Given the description of an element on the screen output the (x, y) to click on. 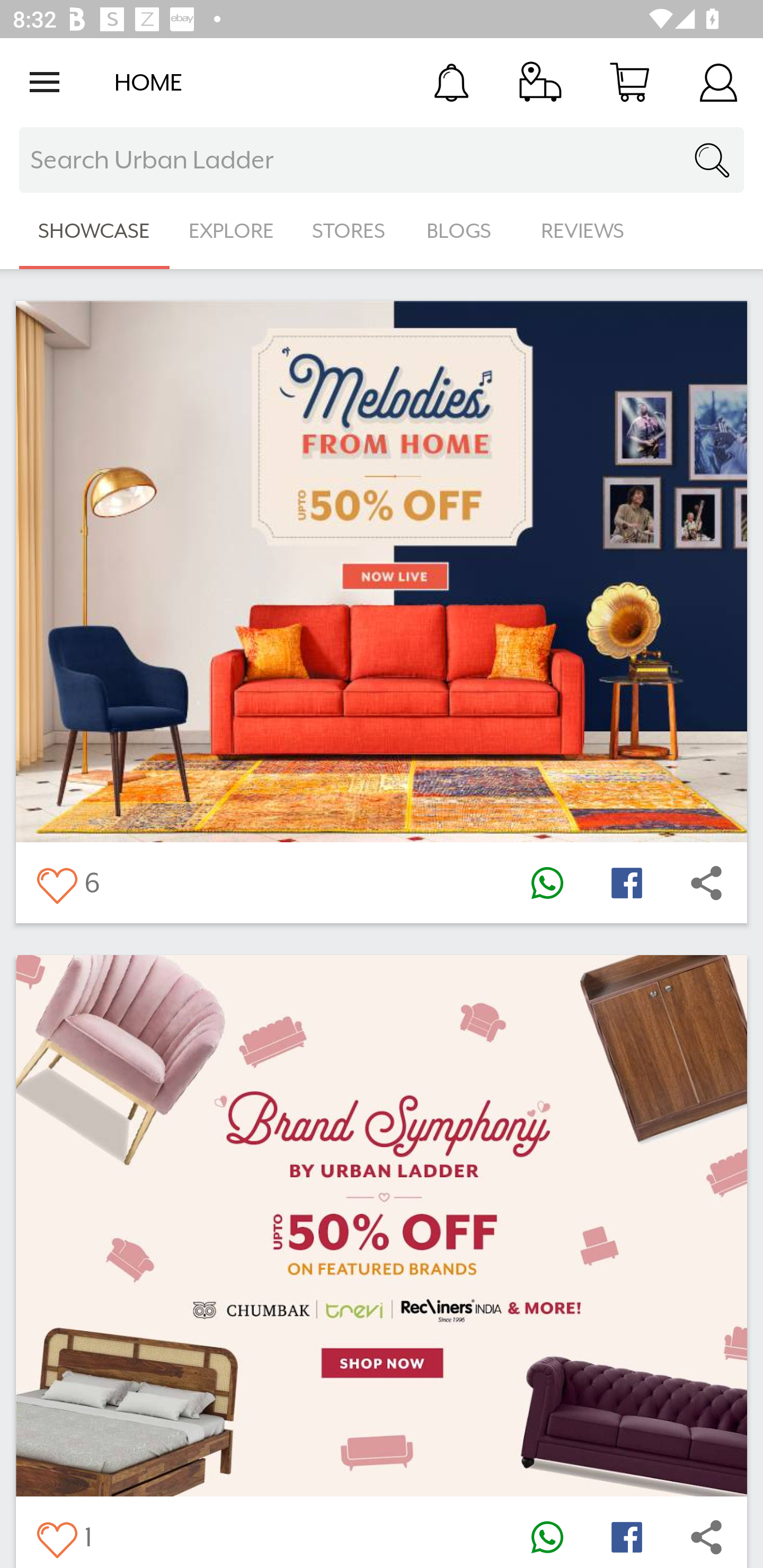
Open navigation drawer (44, 82)
Notification (450, 81)
Track Order (540, 81)
Cart (629, 81)
Account Details (718, 81)
Search Urban Ladder  (381, 159)
SHOWCASE (94, 230)
EXPLORE (230, 230)
STORES (349, 230)
BLOGS (464, 230)
REVIEWS (582, 230)
 (55, 882)
 (547, 882)
 (626, 882)
 (706, 882)
 (55, 1536)
 (547, 1536)
 (626, 1536)
 (706, 1536)
